Given the description of an element on the screen output the (x, y) to click on. 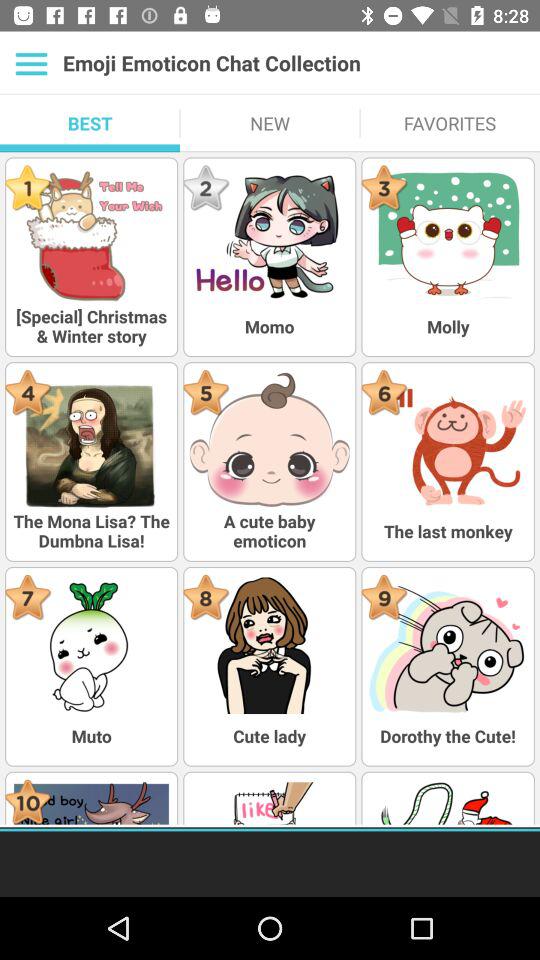
click menu (31, 63)
